Given the description of an element on the screen output the (x, y) to click on. 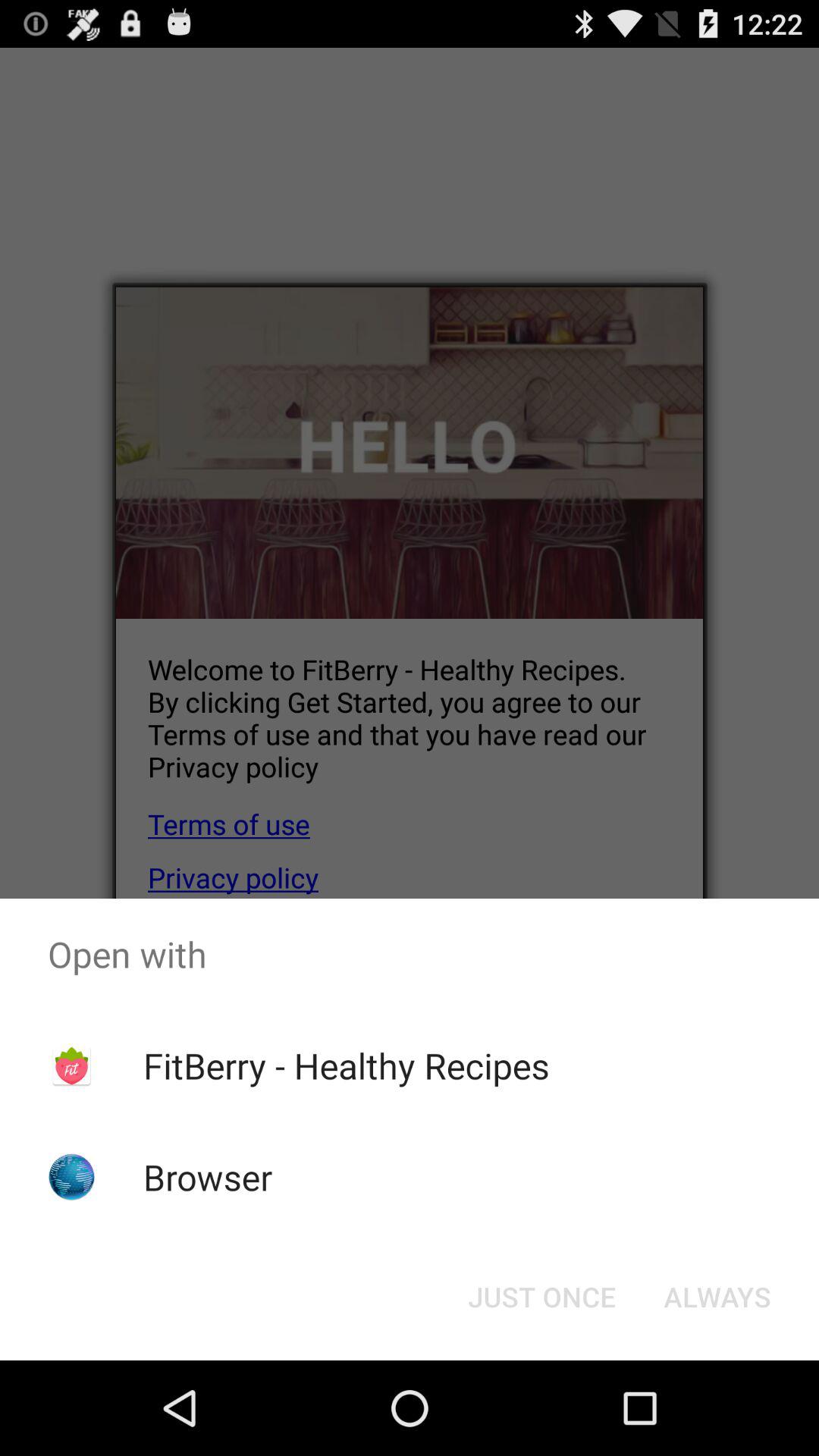
tap item to the left of always icon (541, 1296)
